Given the description of an element on the screen output the (x, y) to click on. 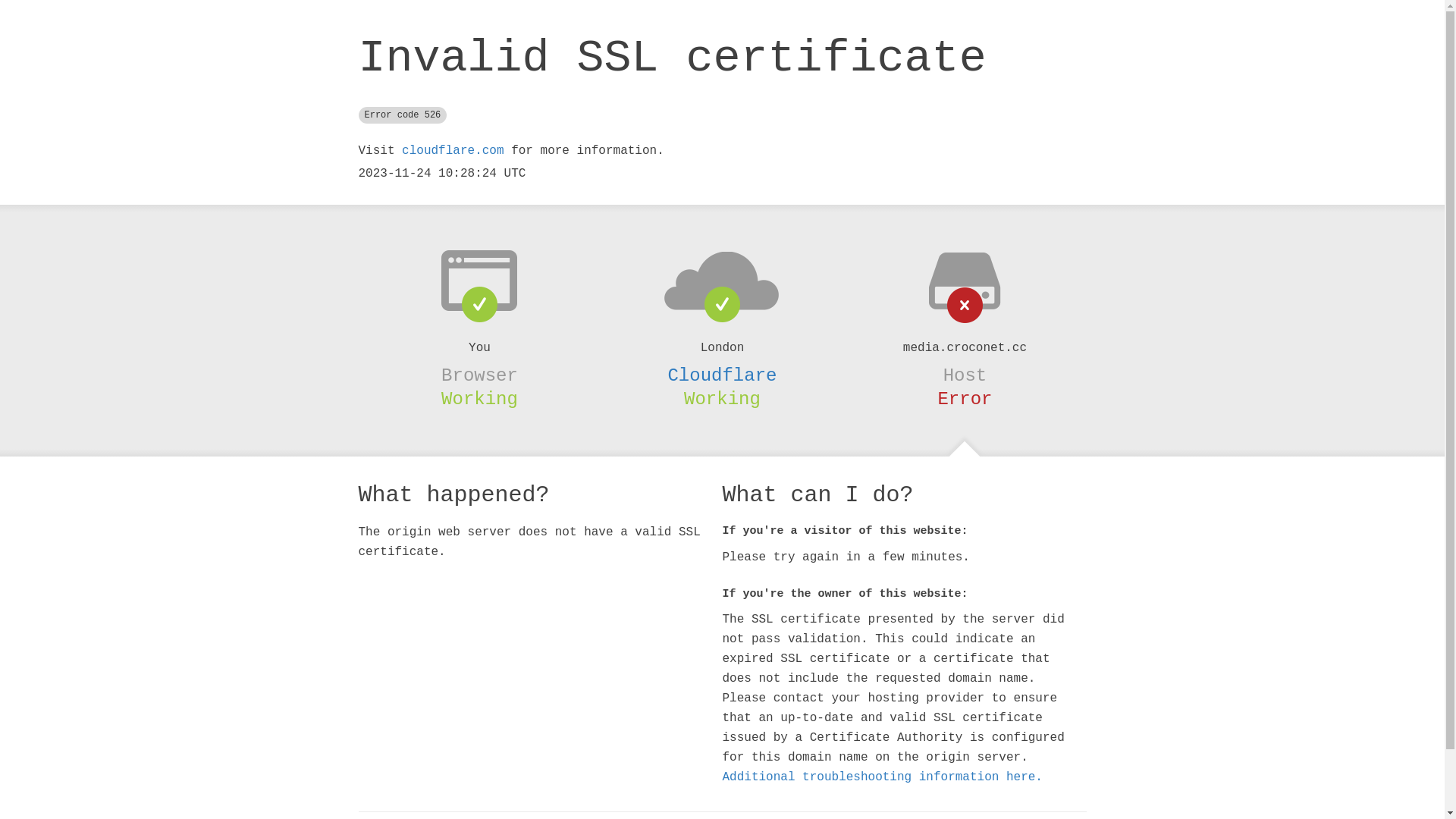
Cloudflare Element type: text (721, 375)
Additional troubleshooting information here. Element type: text (881, 777)
cloudflare.com Element type: text (452, 150)
